Given the description of an element on the screen output the (x, y) to click on. 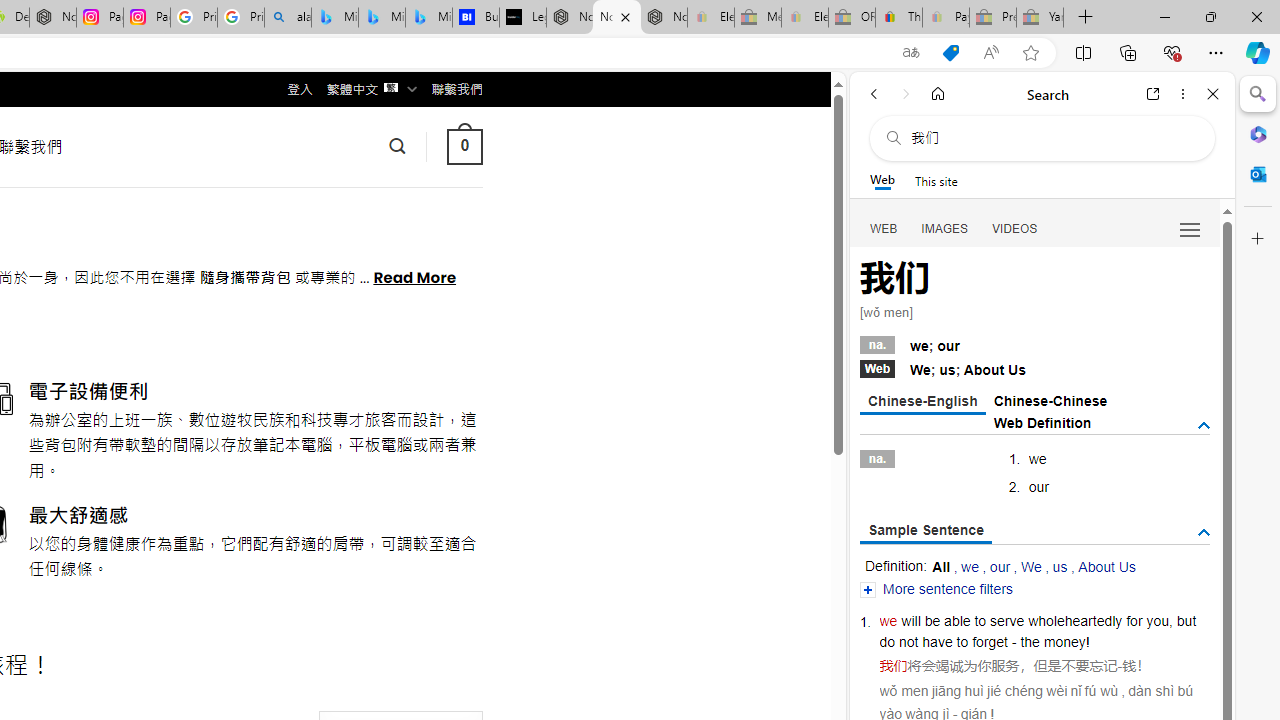
WEB (884, 228)
not (908, 642)
Search the web (1051, 137)
AutomationID: tgdef (1203, 425)
serve (1007, 620)
Microsoft Bing Travel - Shangri-La Hotel Bangkok (428, 17)
Payments Terms of Use | eBay.com - Sleeping (945, 17)
Chinese-English (922, 402)
